Given the description of an element on the screen output the (x, y) to click on. 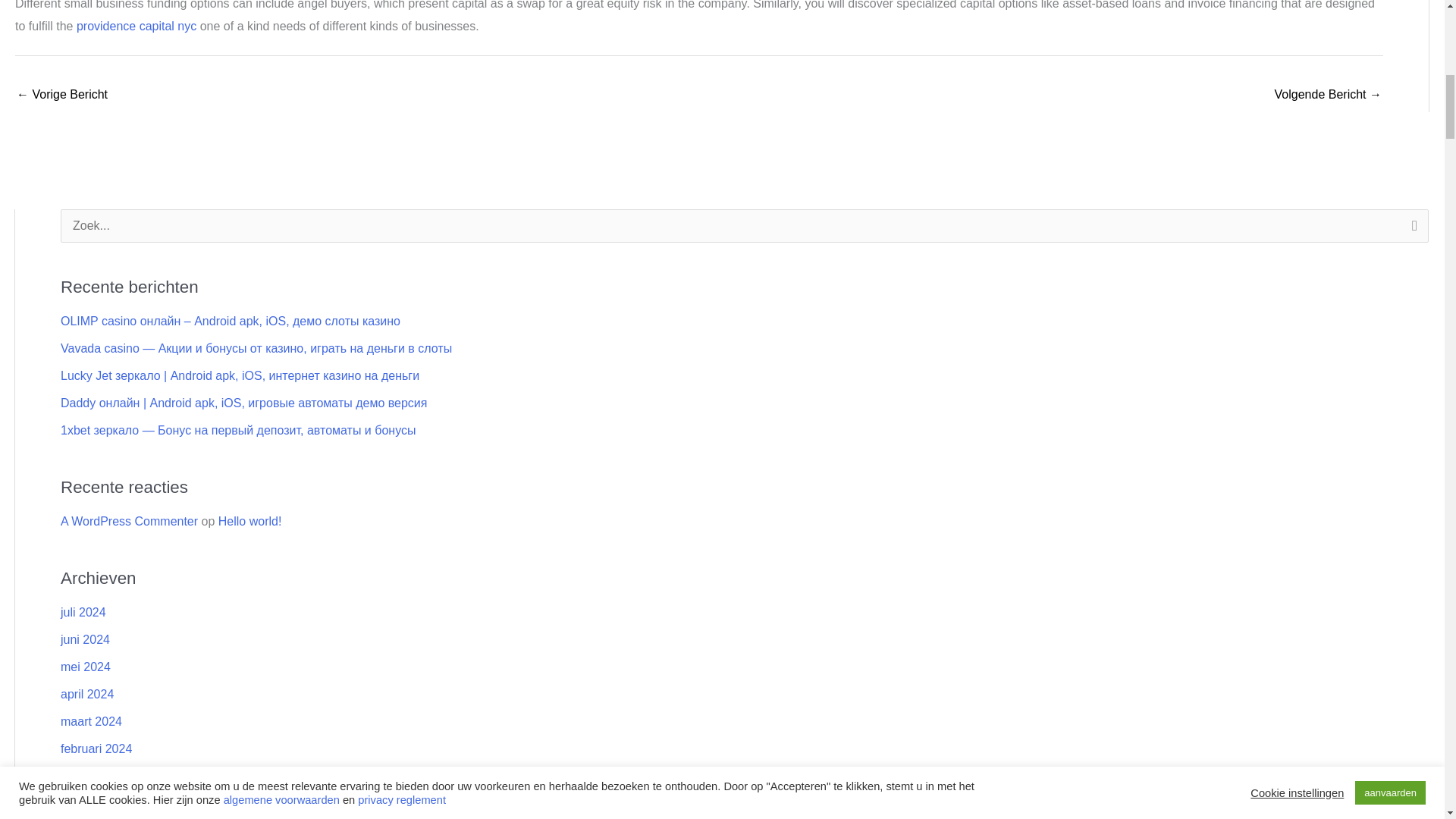
Fabulous Interracial Lovers (61, 95)
